Given the description of an element on the screen output the (x, y) to click on. 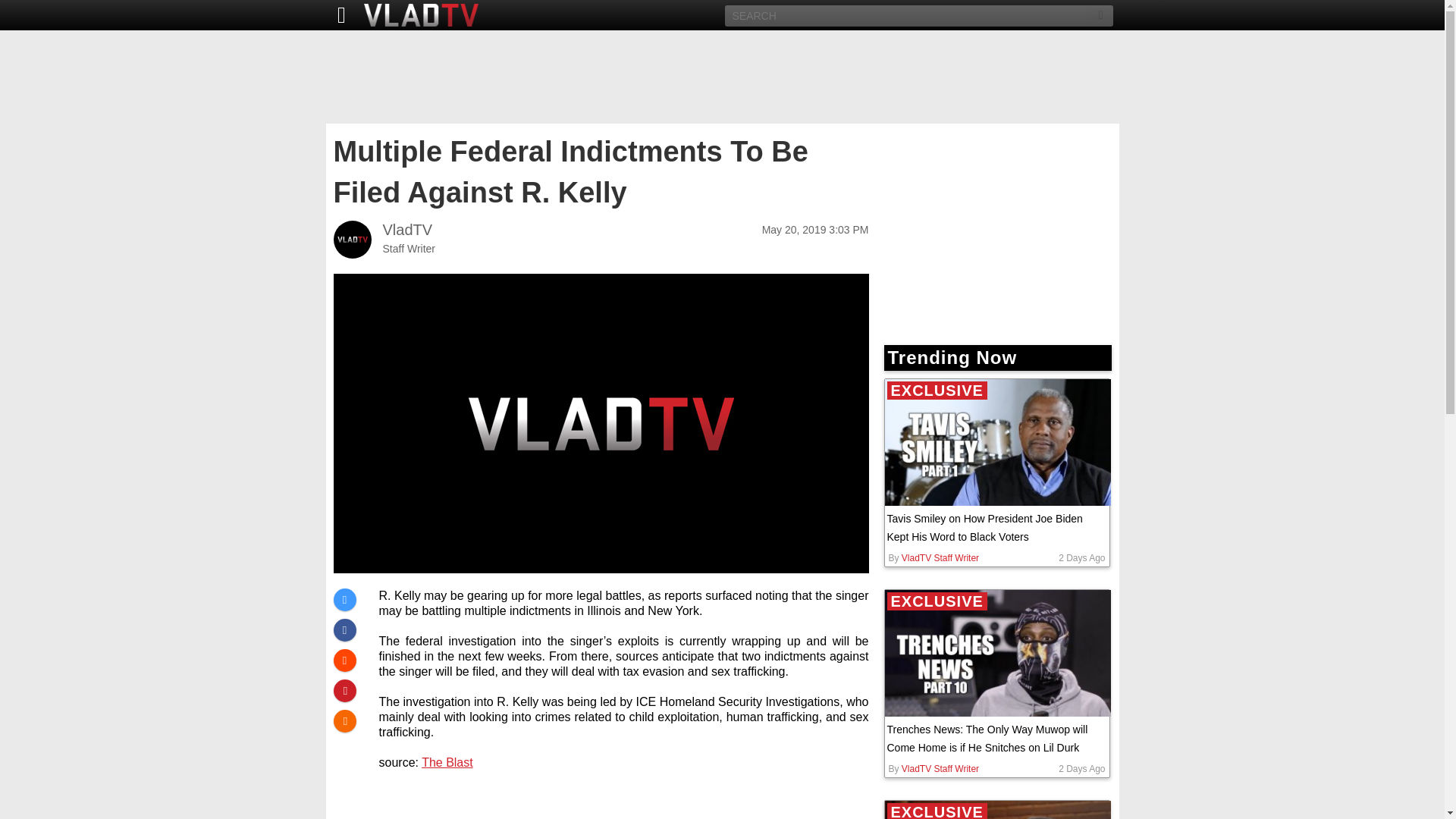
The Blast (447, 762)
Icon: Post To Facebook (344, 630)
EXCLUSIVE (995, 442)
Icon: Email Link To Article (344, 721)
Icon: Post To Reddit (344, 660)
Search Articles (1101, 14)
Back To Homepage (337, 15)
Icon: Post To Pinterest (344, 690)
Icon: Post To Twitter (344, 599)
